Given the description of an element on the screen output the (x, y) to click on. 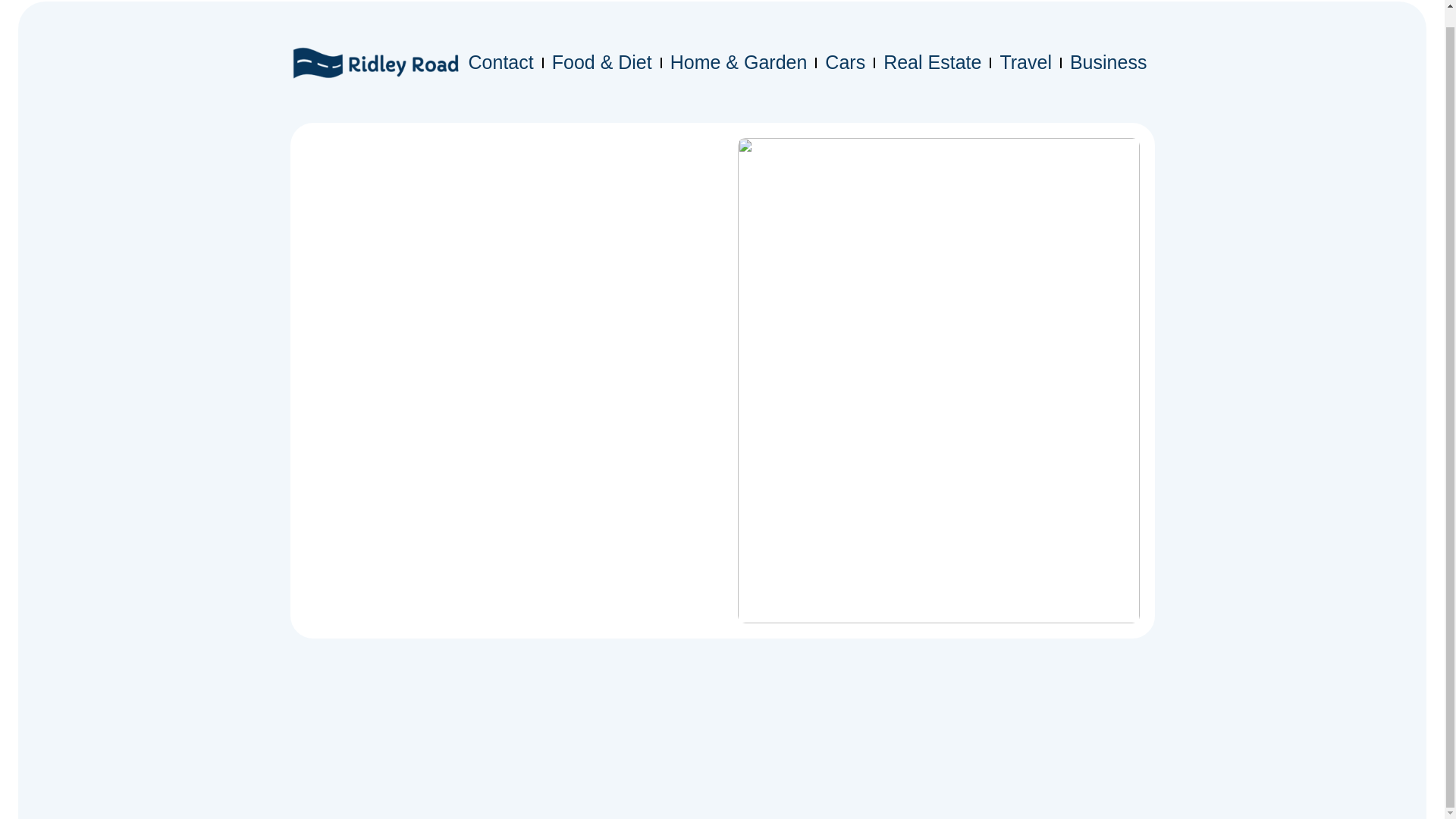
Travel (1025, 61)
Business (1108, 61)
Cars (844, 61)
Contact (501, 61)
Real Estate (932, 61)
